Given the description of an element on the screen output the (x, y) to click on. 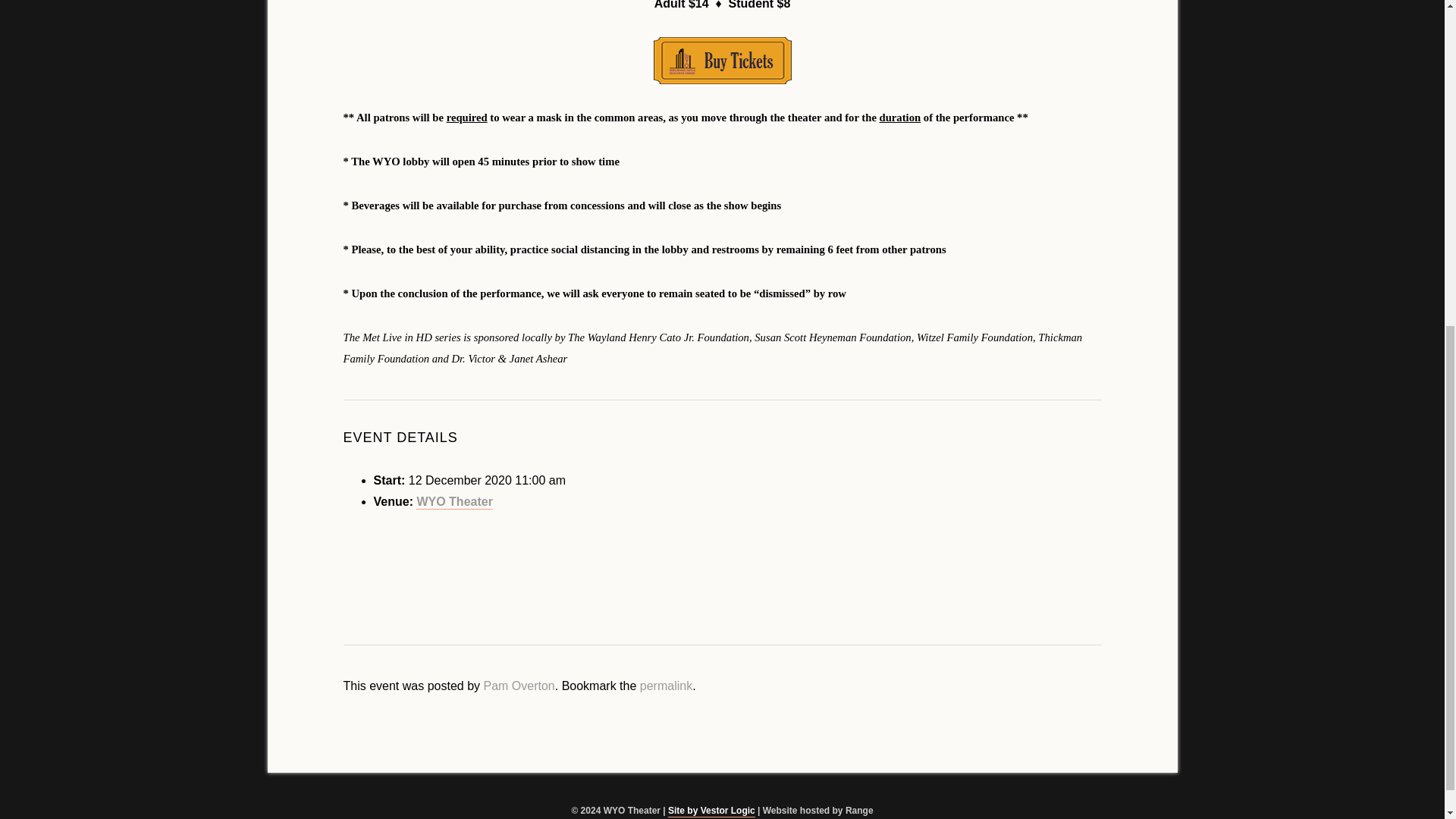
permalink (666, 685)
Pam Overton (518, 685)
WYO Theater (454, 502)
Site by Vestor Logic (711, 811)
